Given the description of an element on the screen output the (x, y) to click on. 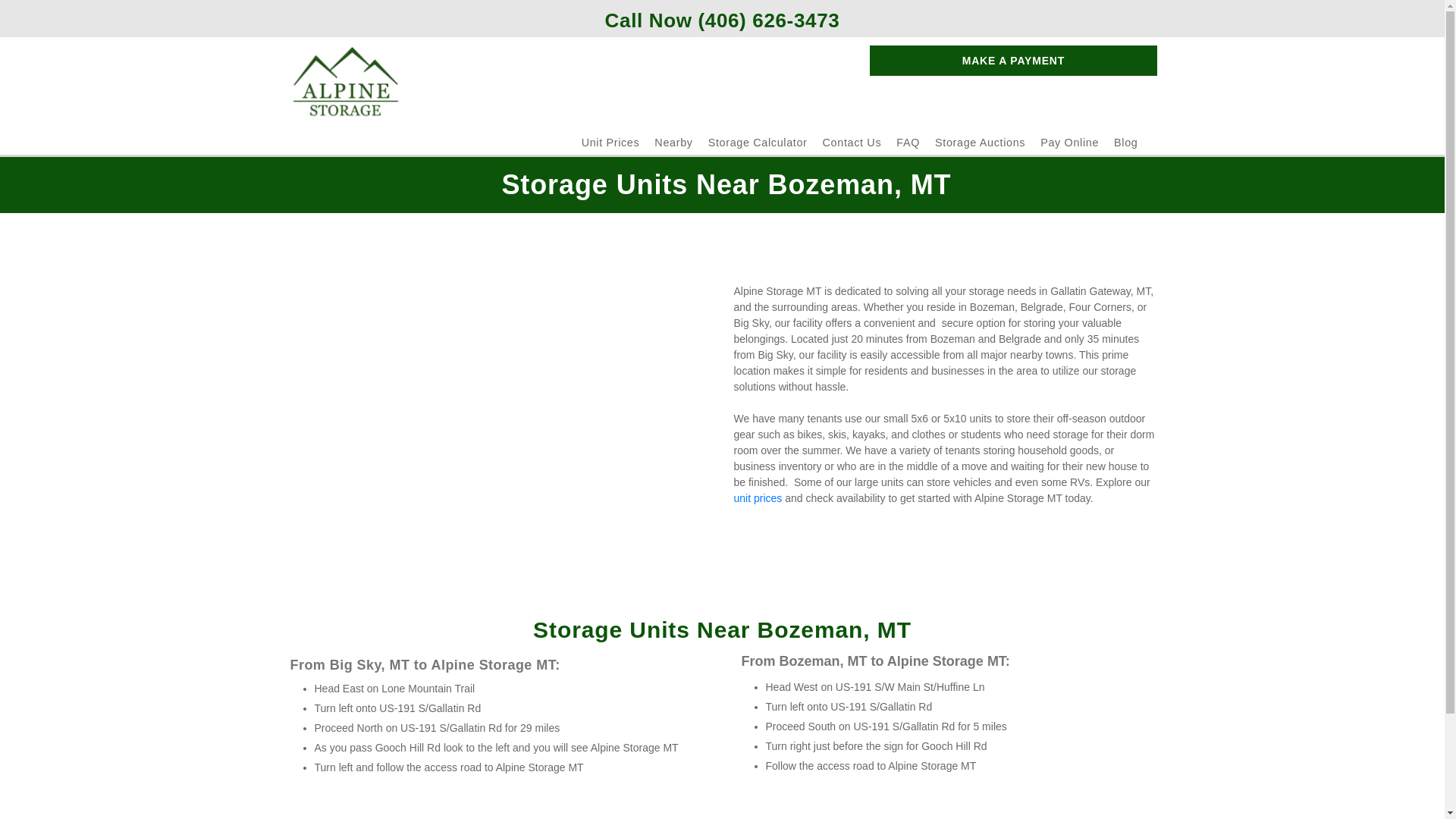
MAKE A PAYMENT (1012, 60)
Unit Prices (610, 142)
Storage Auctions (979, 142)
unit prices (758, 498)
Alpine Storage logo (346, 83)
Contact Us (852, 142)
Nearby (673, 142)
Pay Online (1070, 142)
Storage Calculator (757, 142)
Blog (1125, 142)
